Given the description of an element on the screen output the (x, y) to click on. 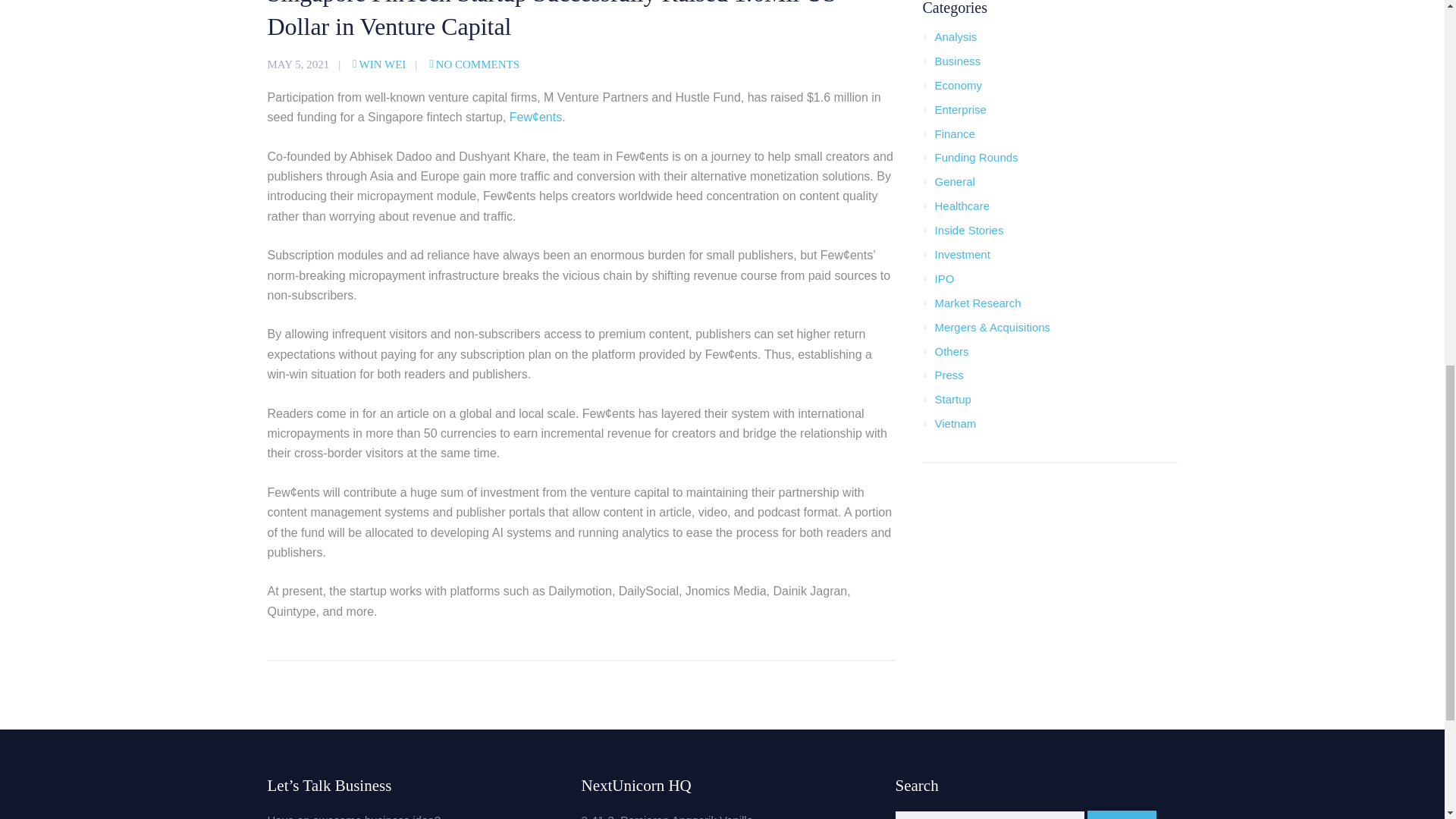
Business (956, 60)
Finance (954, 133)
Healthcare (962, 205)
Funding Rounds (975, 156)
Enterprise (959, 109)
WIN WEI (379, 64)
NO COMMENTS (474, 64)
Search (1121, 814)
Analysis (955, 36)
Economy (957, 84)
Inside Stories (968, 229)
Search (1121, 814)
General (954, 181)
